Given the description of an element on the screen output the (x, y) to click on. 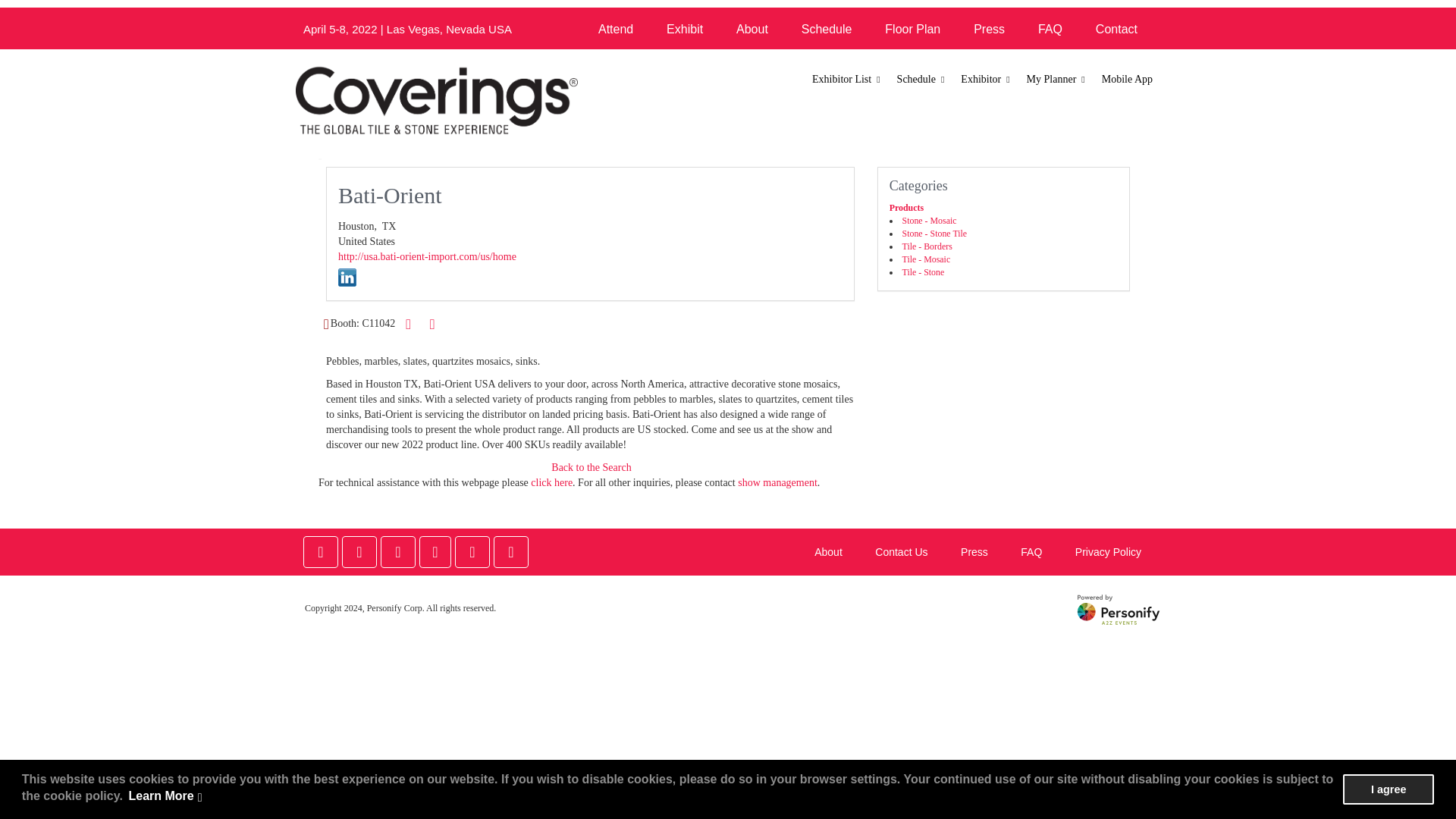
Schedule (826, 29)
Press (989, 29)
About (751, 29)
Exhibitor (985, 79)
Contact (1116, 29)
Schedule (921, 79)
FAQ (1050, 29)
Exhibitor List (847, 79)
Floor Plan (912, 29)
Print (408, 323)
Attend (615, 29)
My Planner (1056, 79)
Add To My Exhibitors (432, 324)
Exhibit (683, 29)
Mobile App (1127, 79)
